Given the description of an element on the screen output the (x, y) to click on. 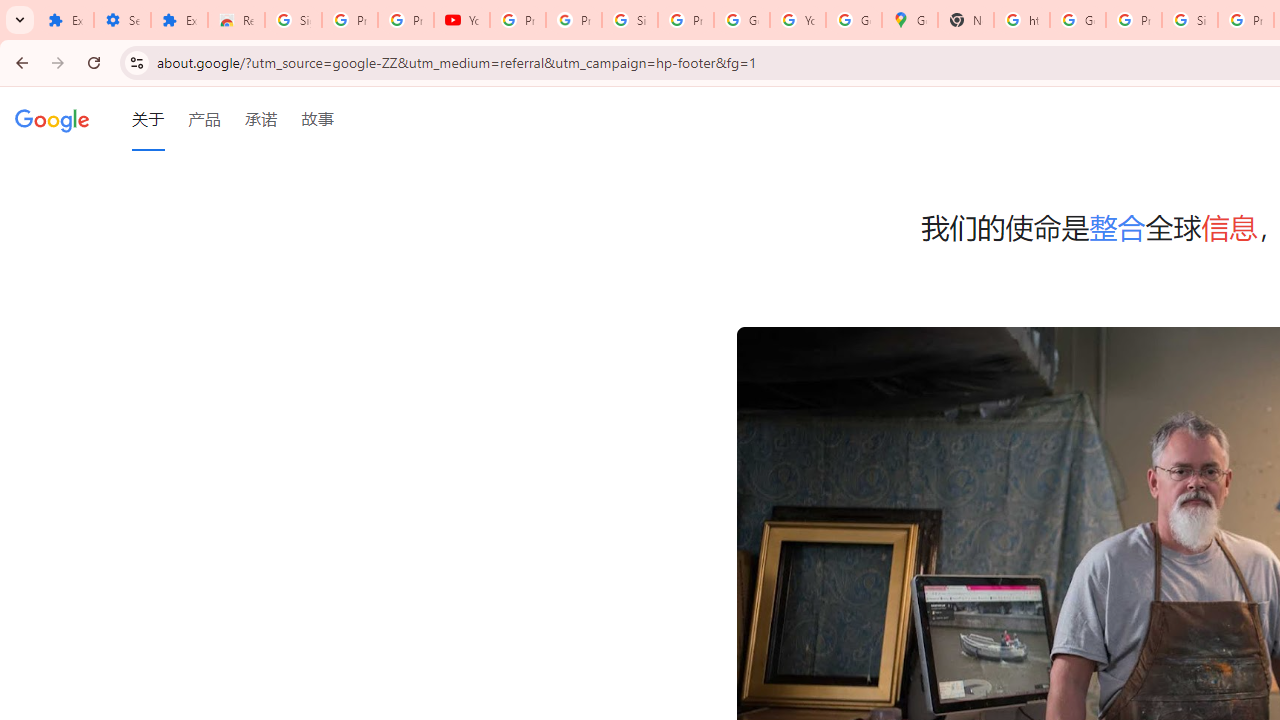
Google (52, 119)
Reviews: Helix Fruit Jump Arcade Game (235, 20)
YouTube (461, 20)
Extensions (65, 20)
Settings (122, 20)
https://scholar.google.com/ (1021, 20)
Sign in - Google Accounts (1190, 20)
Sign in - Google Accounts (629, 20)
